Given the description of an element on the screen output the (x, y) to click on. 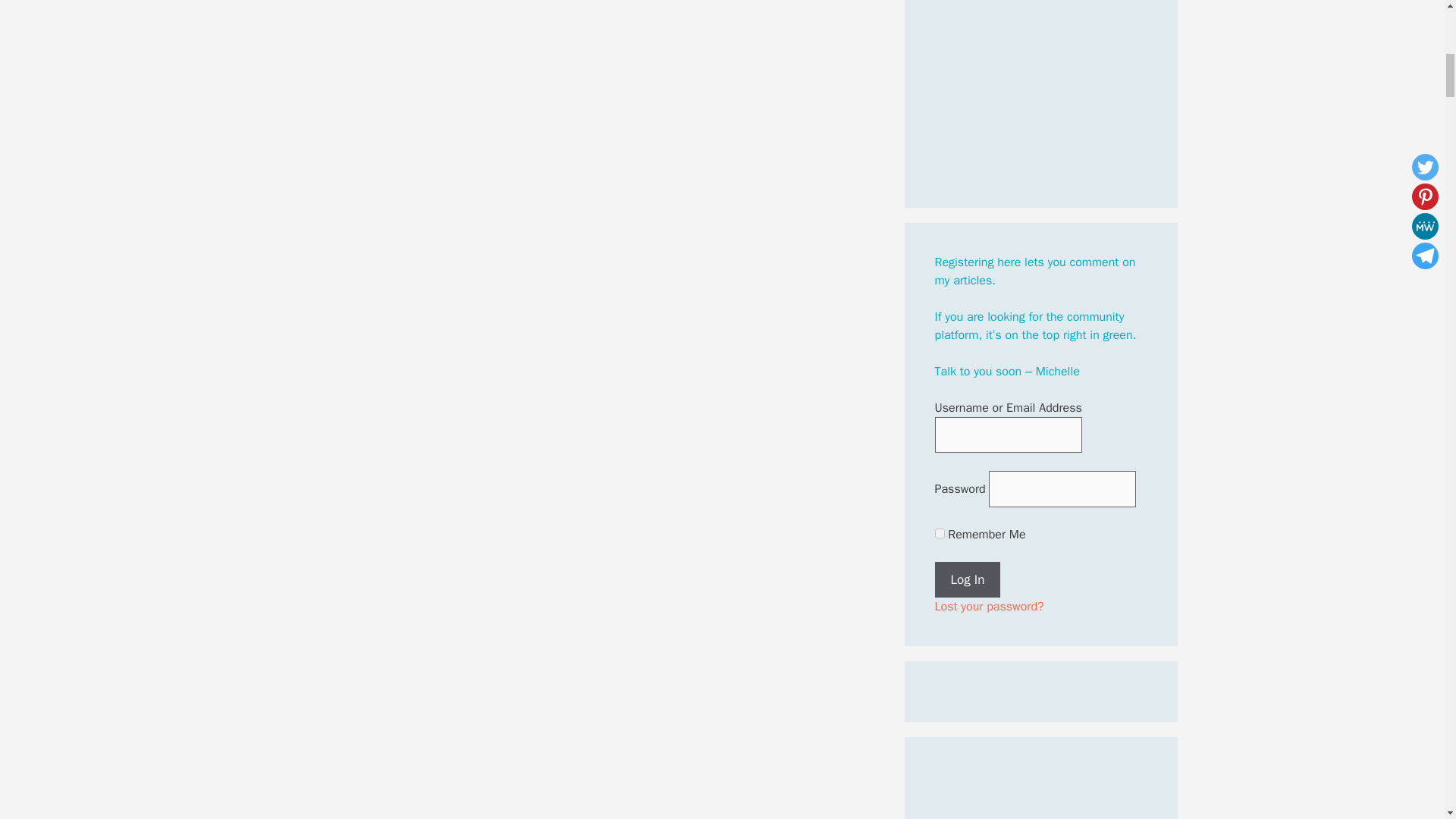
Log In (967, 579)
forever (938, 533)
